Given the description of an element on the screen output the (x, y) to click on. 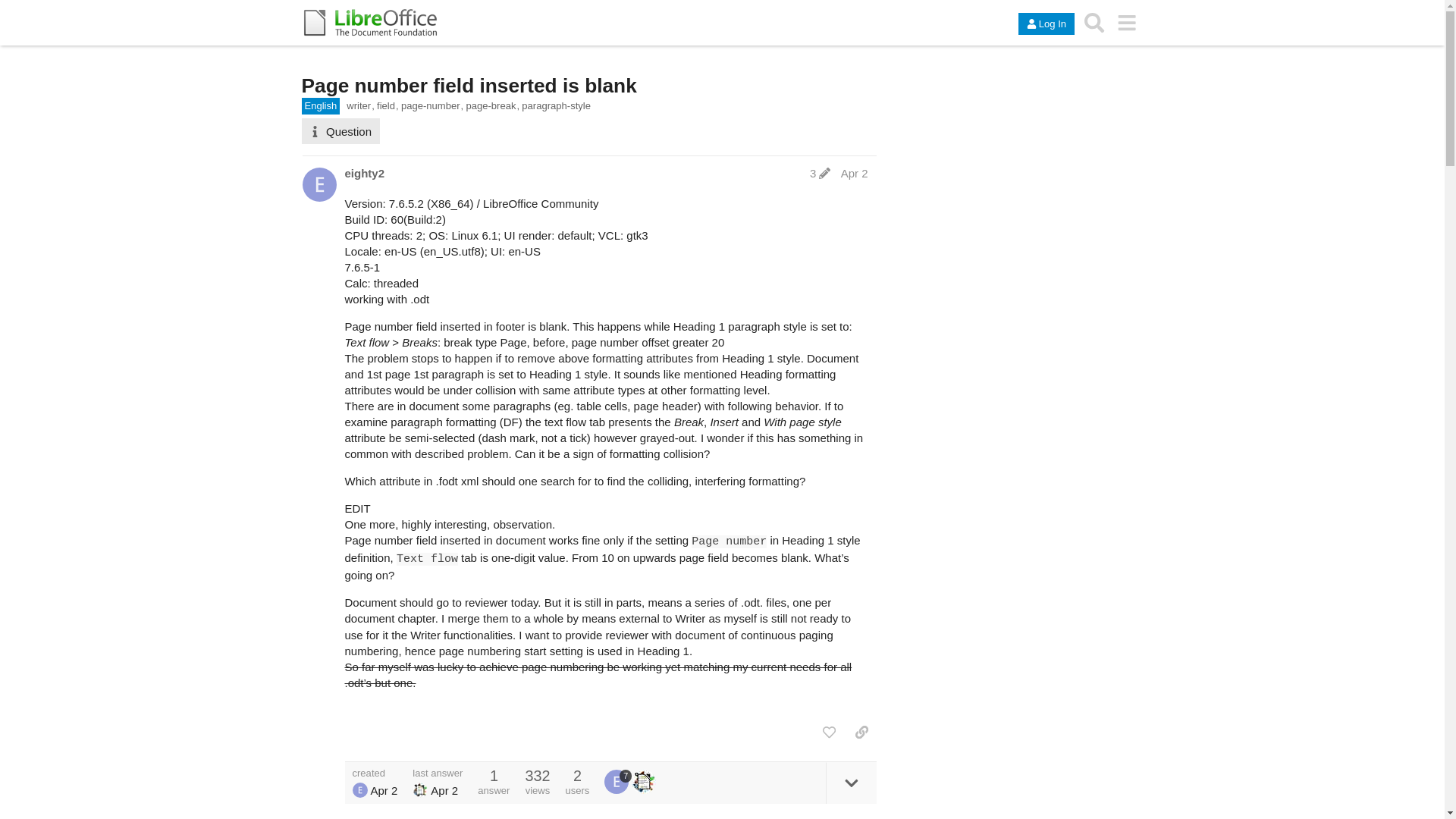
field (387, 106)
post last edited on Apr 2, 2024 10:33 pm (819, 173)
Search (1094, 22)
eighty2 (363, 172)
Apr 2, 2024 7:24 pm (383, 789)
writer (360, 106)
share a link to this post (861, 732)
paragraph-style (556, 106)
Apr 2 (854, 173)
